Given the description of an element on the screen output the (x, y) to click on. 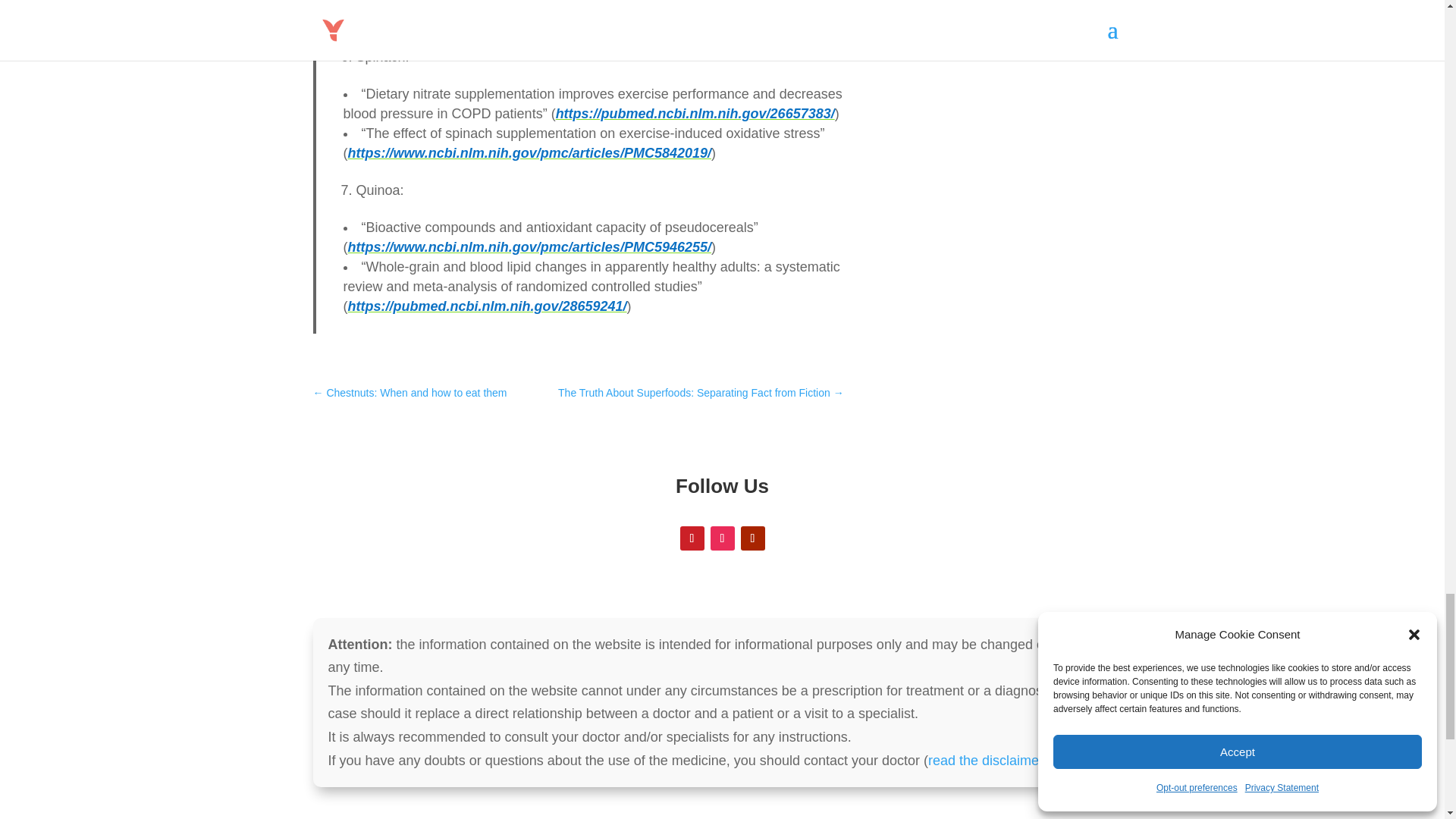
Follow on Instagram (721, 538)
Follow on Youtube (751, 538)
Follow on Pinterest (691, 538)
